Given the description of an element on the screen output the (x, y) to click on. 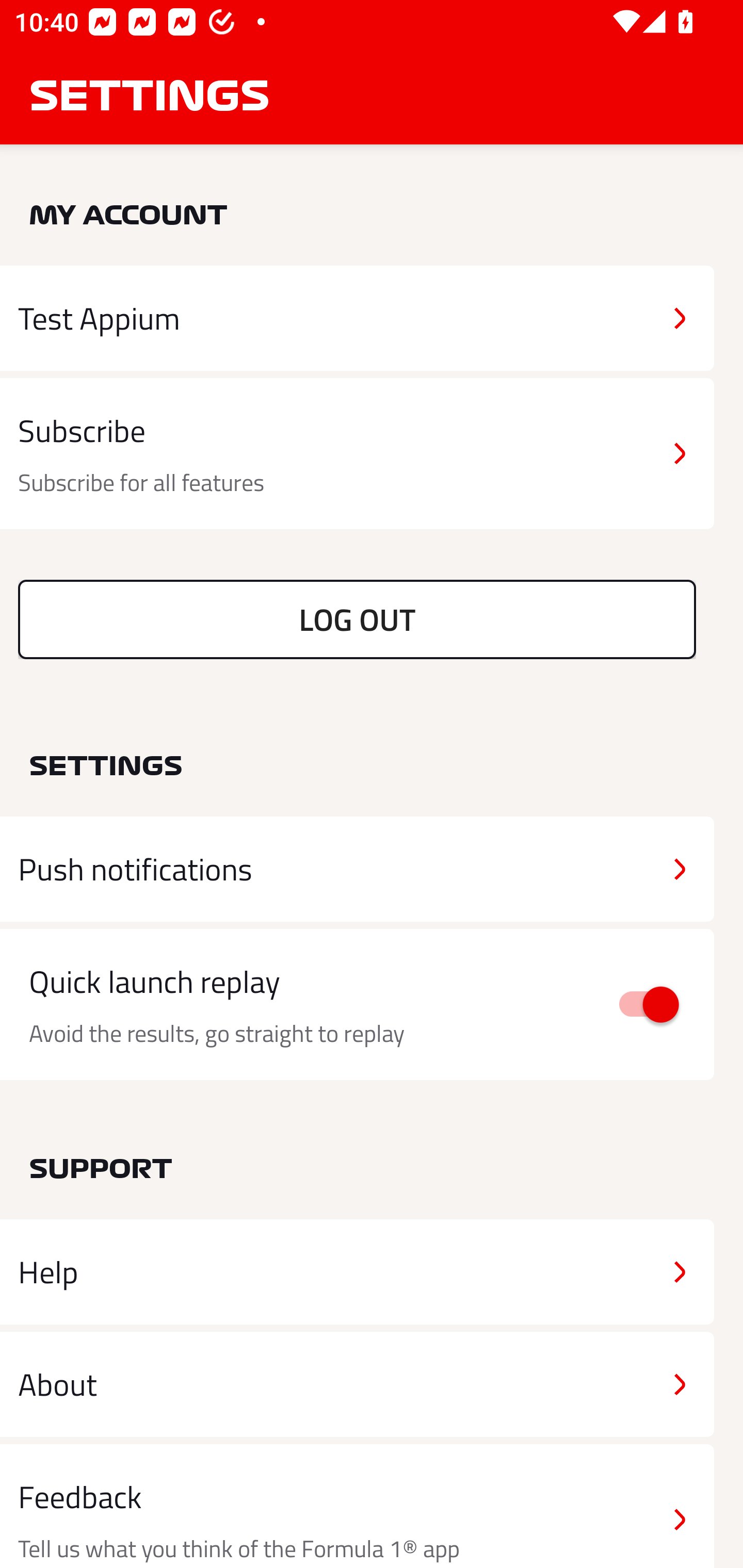
Test Appium (357, 317)
Subscribe Subscribe for all features (357, 453)
LOG OUT (356, 619)
Push notifications (357, 868)
Help (357, 1271)
About (357, 1383)
